Given the description of an element on the screen output the (x, y) to click on. 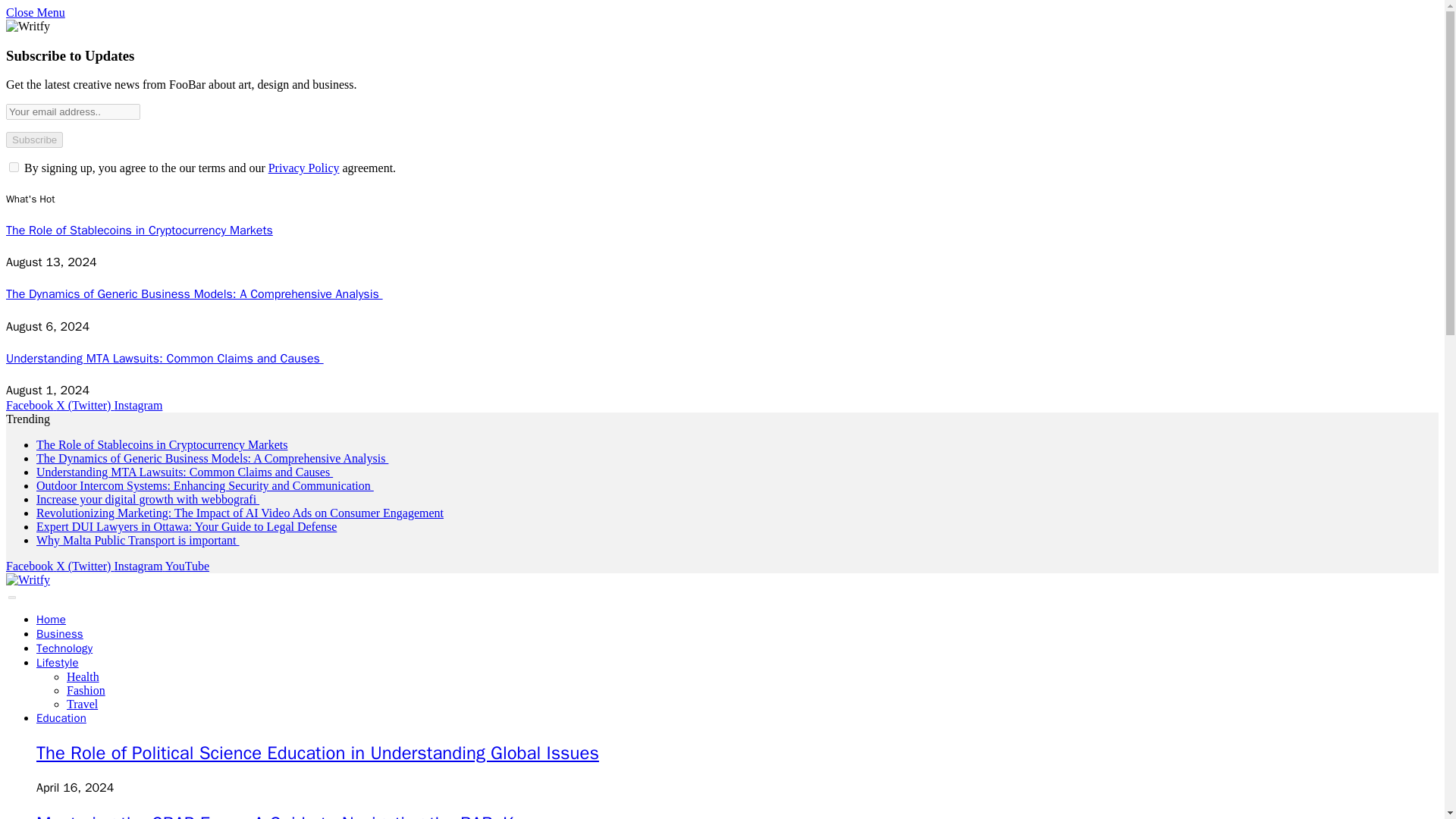
Subscribe (33, 139)
Facebook (30, 404)
Home (50, 619)
The Role of Stablecoins in Cryptocurrency Markets (139, 230)
Technology (64, 648)
Mastering the CBAP Exam: A Guide to Navigating the BABoK (274, 815)
Subscribe (33, 139)
Education (60, 717)
Facebook (30, 565)
